Given the description of an element on the screen output the (x, y) to click on. 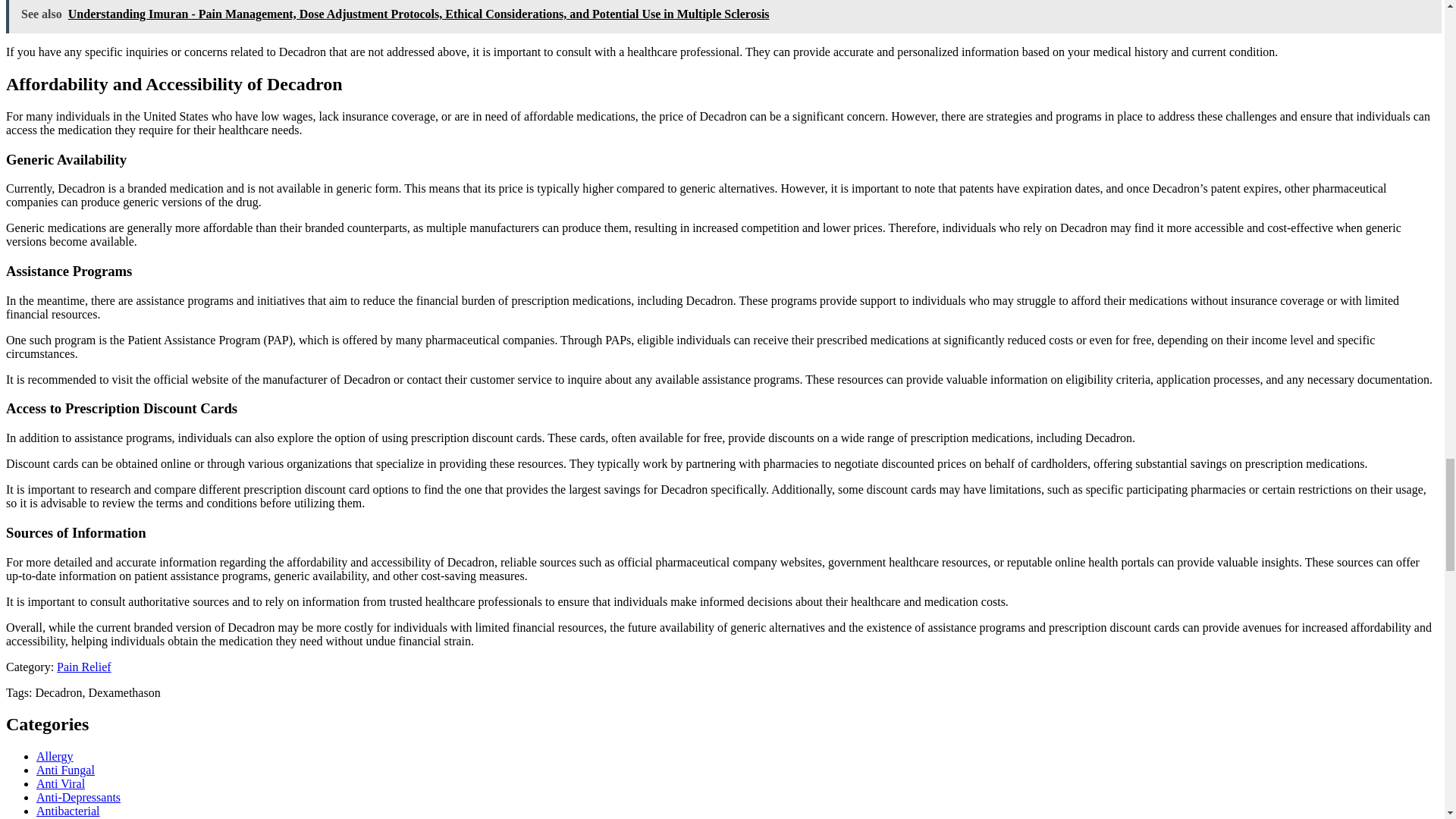
Allergy (55, 756)
Anti Viral (60, 783)
Antibacterial (68, 810)
Antibiotics (63, 818)
Pain Relief (84, 666)
Anti Fungal (65, 769)
Anti-Depressants (78, 797)
